Given the description of an element on the screen output the (x, y) to click on. 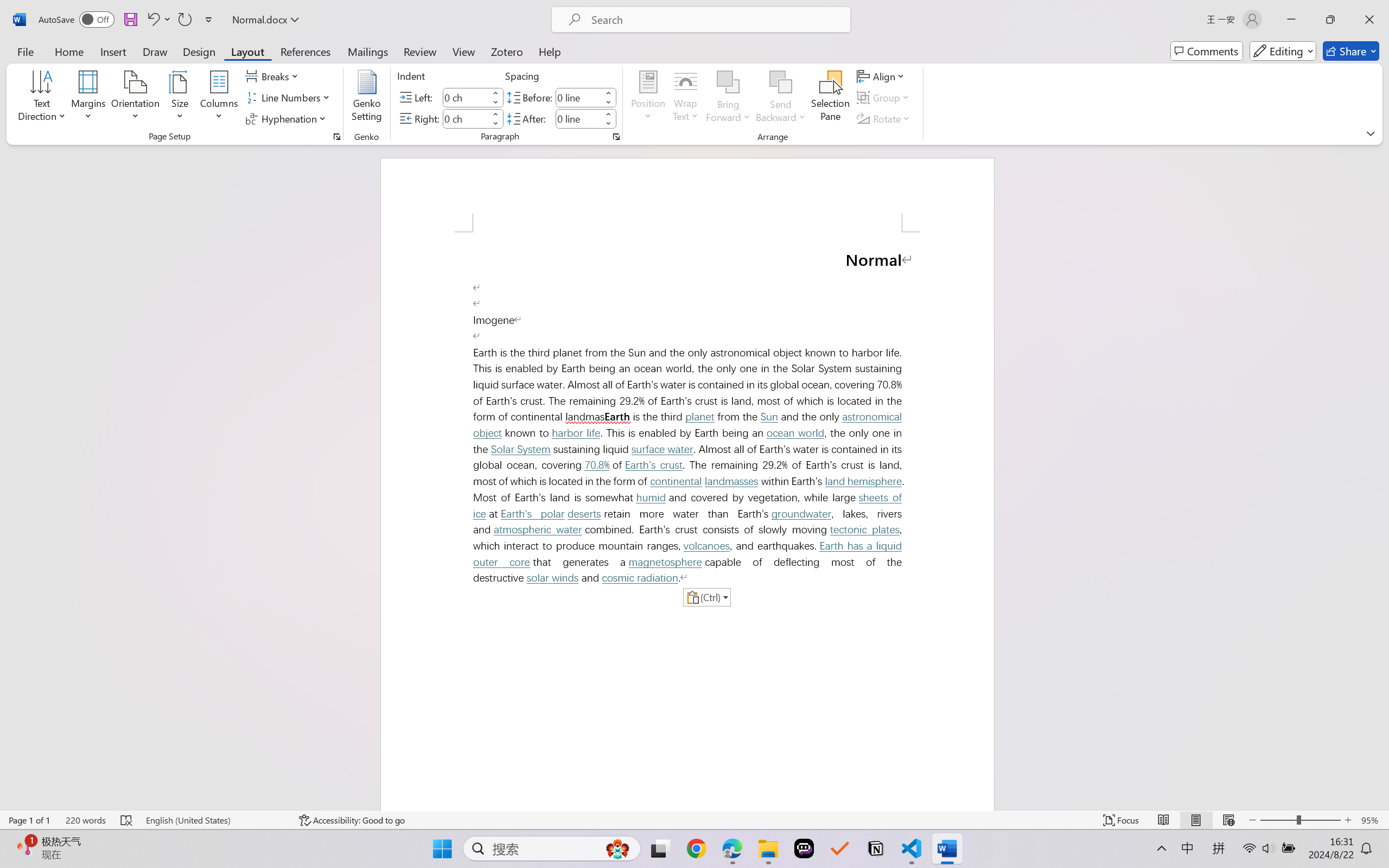
Class: NetUIScrollBar (1382, 477)
Indent Right (465, 118)
solar winds (551, 578)
Orientation (135, 97)
Class: MsoCommandBar (694, 819)
